Given the description of an element on the screen output the (x, y) to click on. 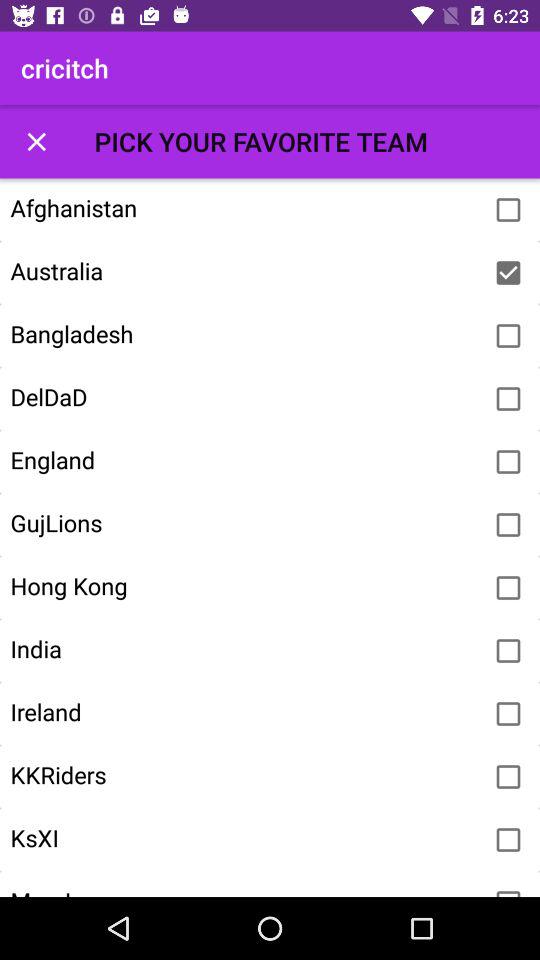
select team (508, 777)
